Given the description of an element on the screen output the (x, y) to click on. 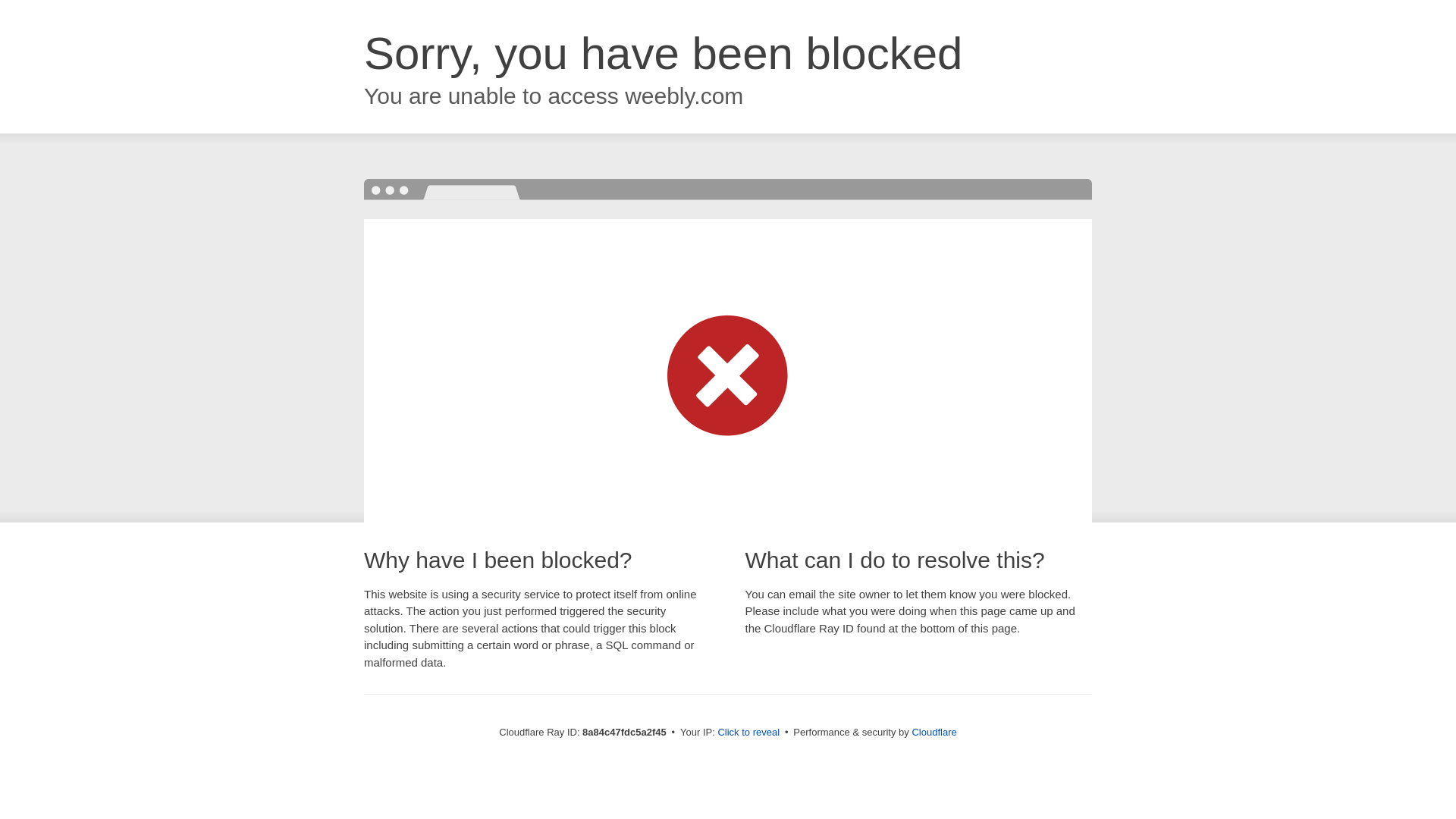
Cloudflare (933, 731)
Click to reveal (747, 732)
